Given the description of an element on the screen output the (x, y) to click on. 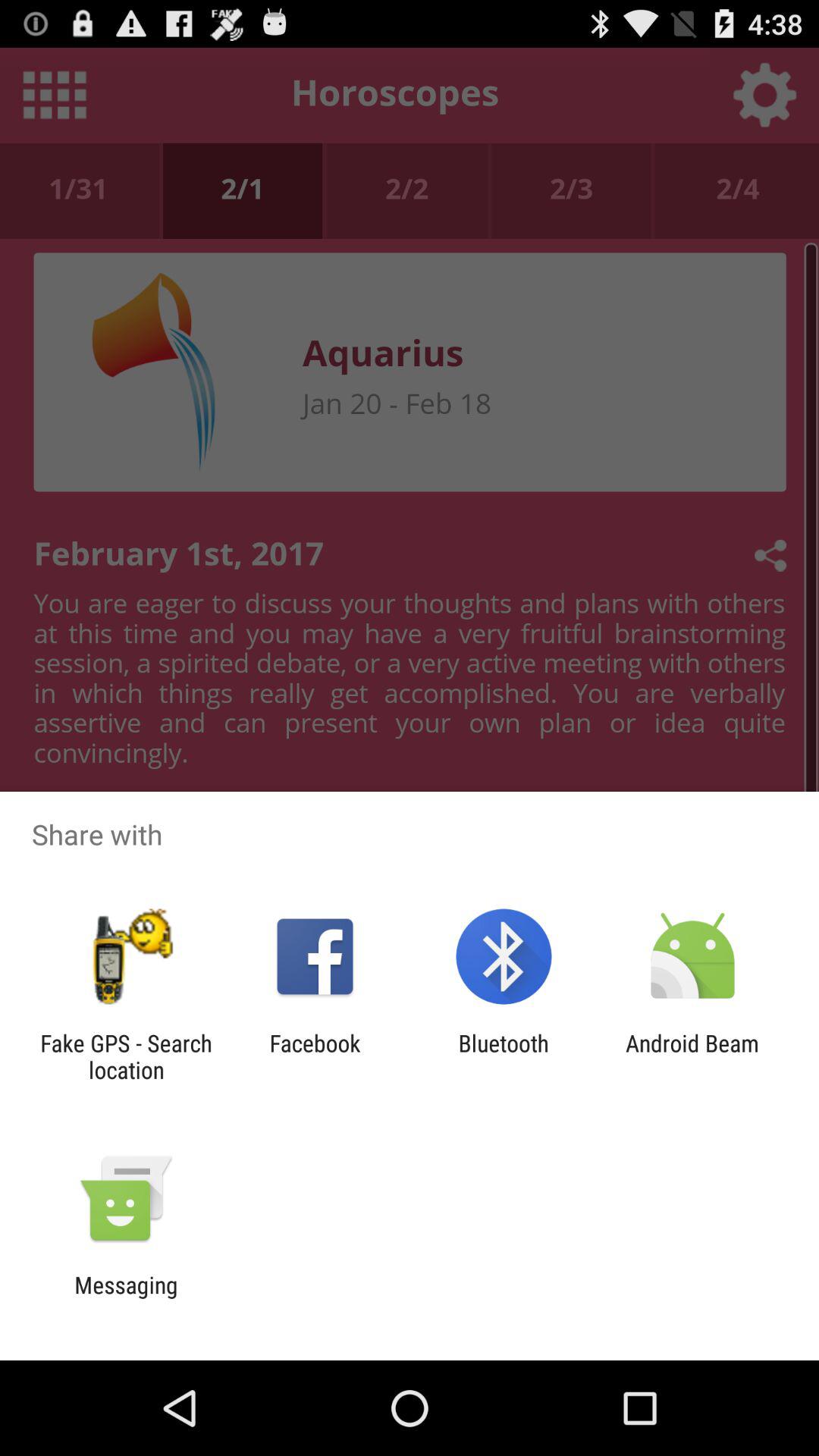
tap the messaging item (126, 1298)
